Given the description of an element on the screen output the (x, y) to click on. 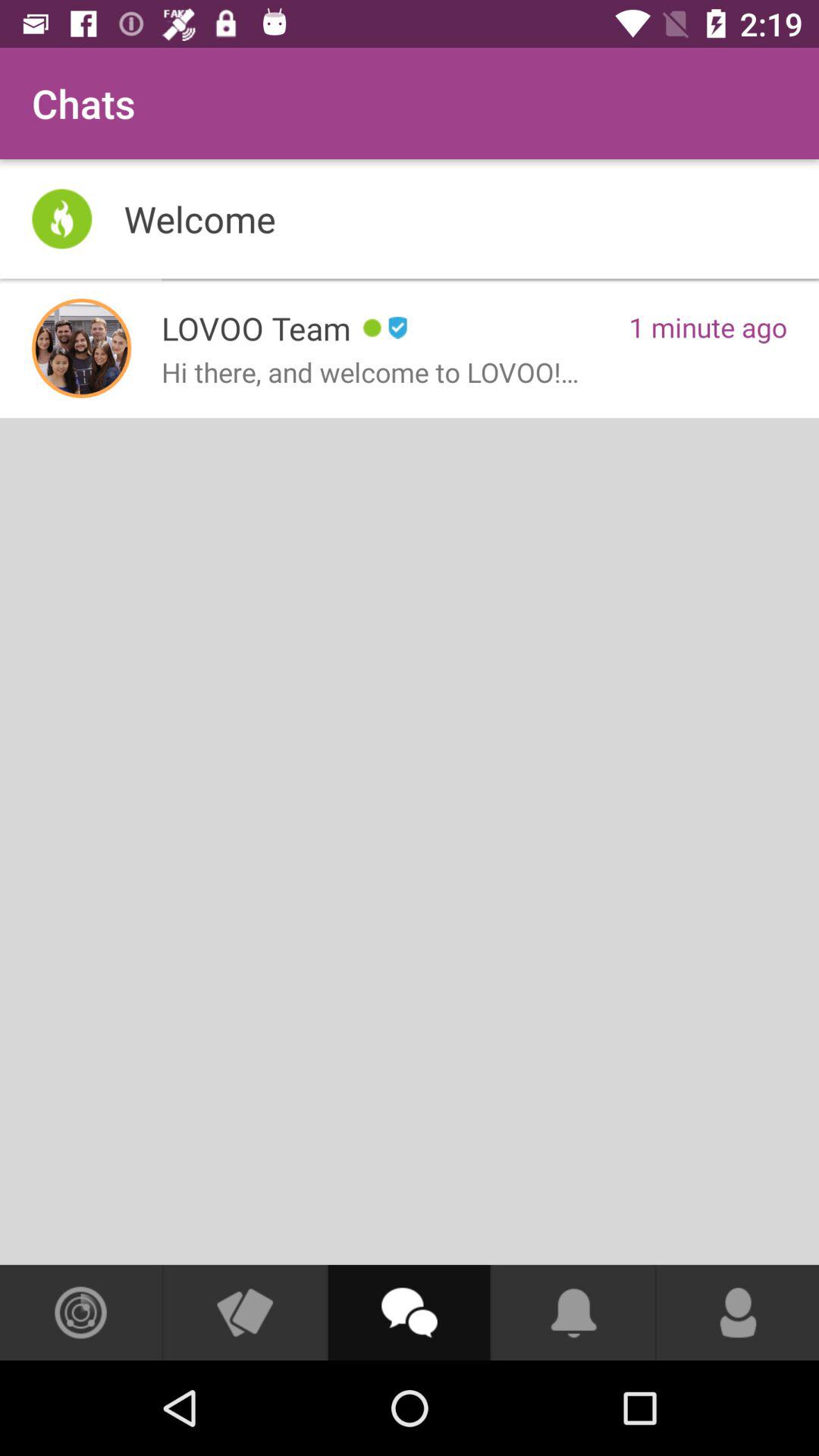
click on second button from bottom left (244, 1312)
